Given the description of an element on the screen output the (x, y) to click on. 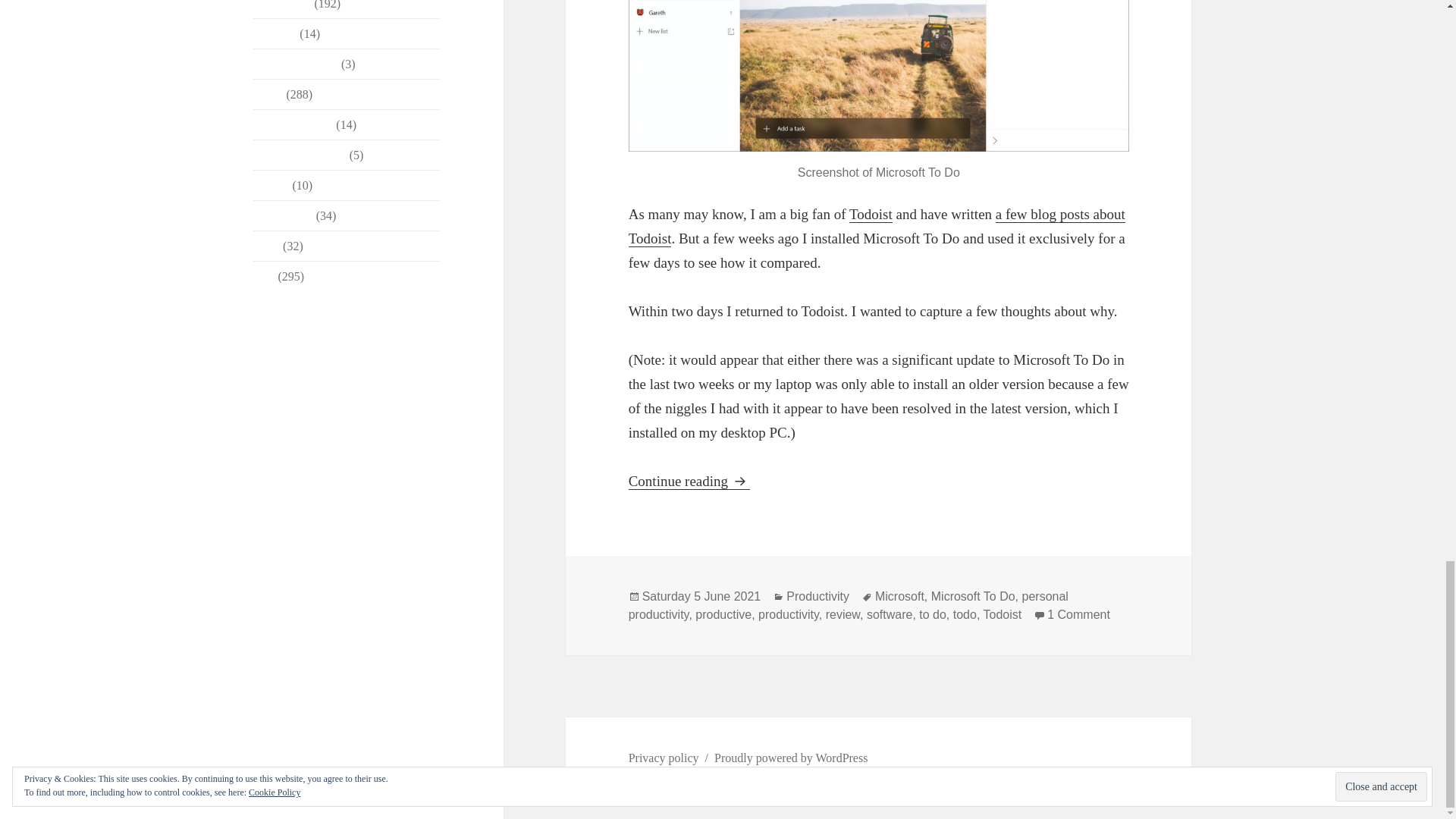
Photon Connection (299, 154)
God Project (282, 4)
Politics (271, 185)
Microsoft Money (295, 63)
Mahjong (275, 33)
Music (268, 93)
